Given the description of an element on the screen output the (x, y) to click on. 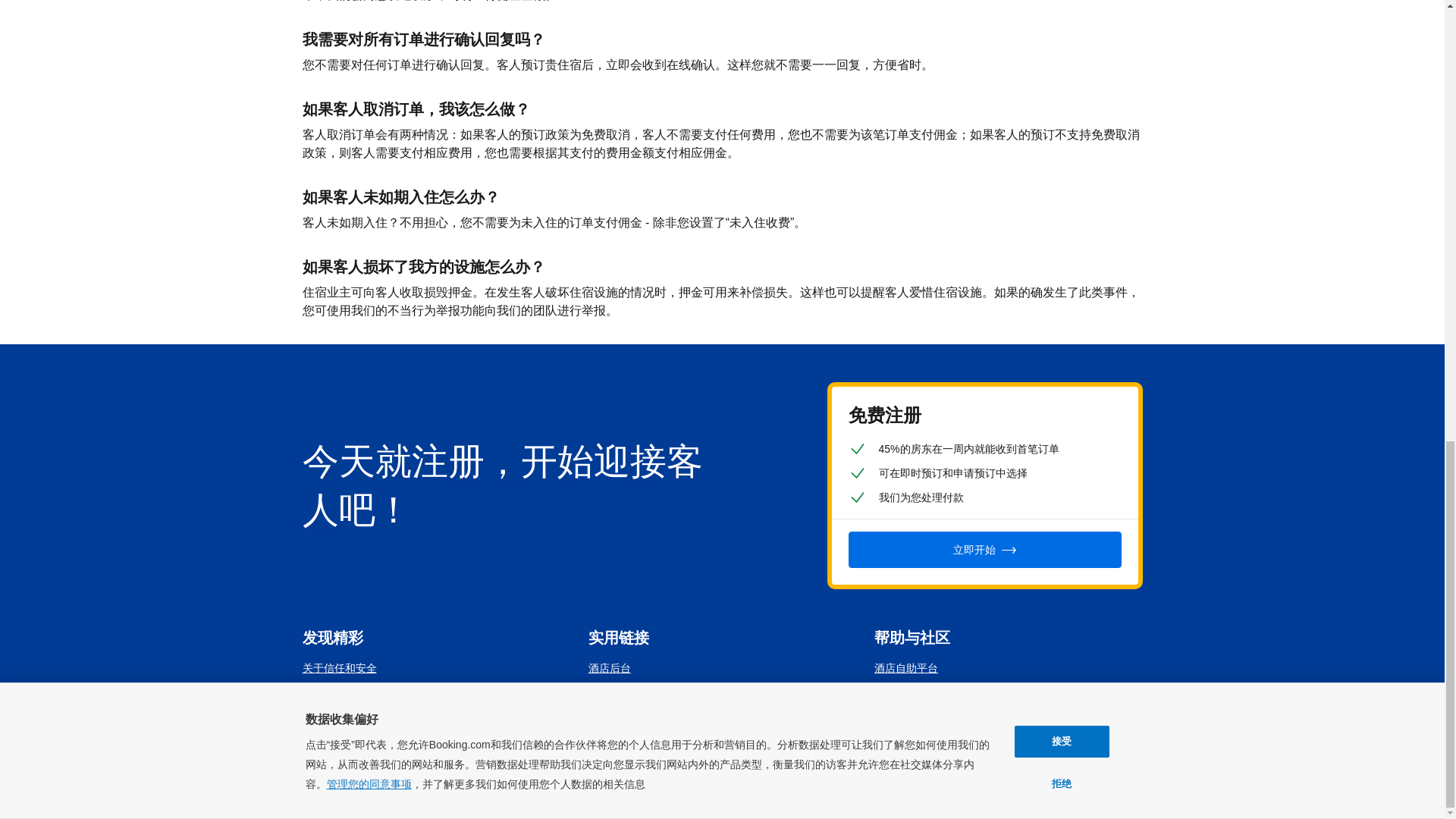
Booking.com (1072, 780)
